Given the description of an element on the screen output the (x, y) to click on. 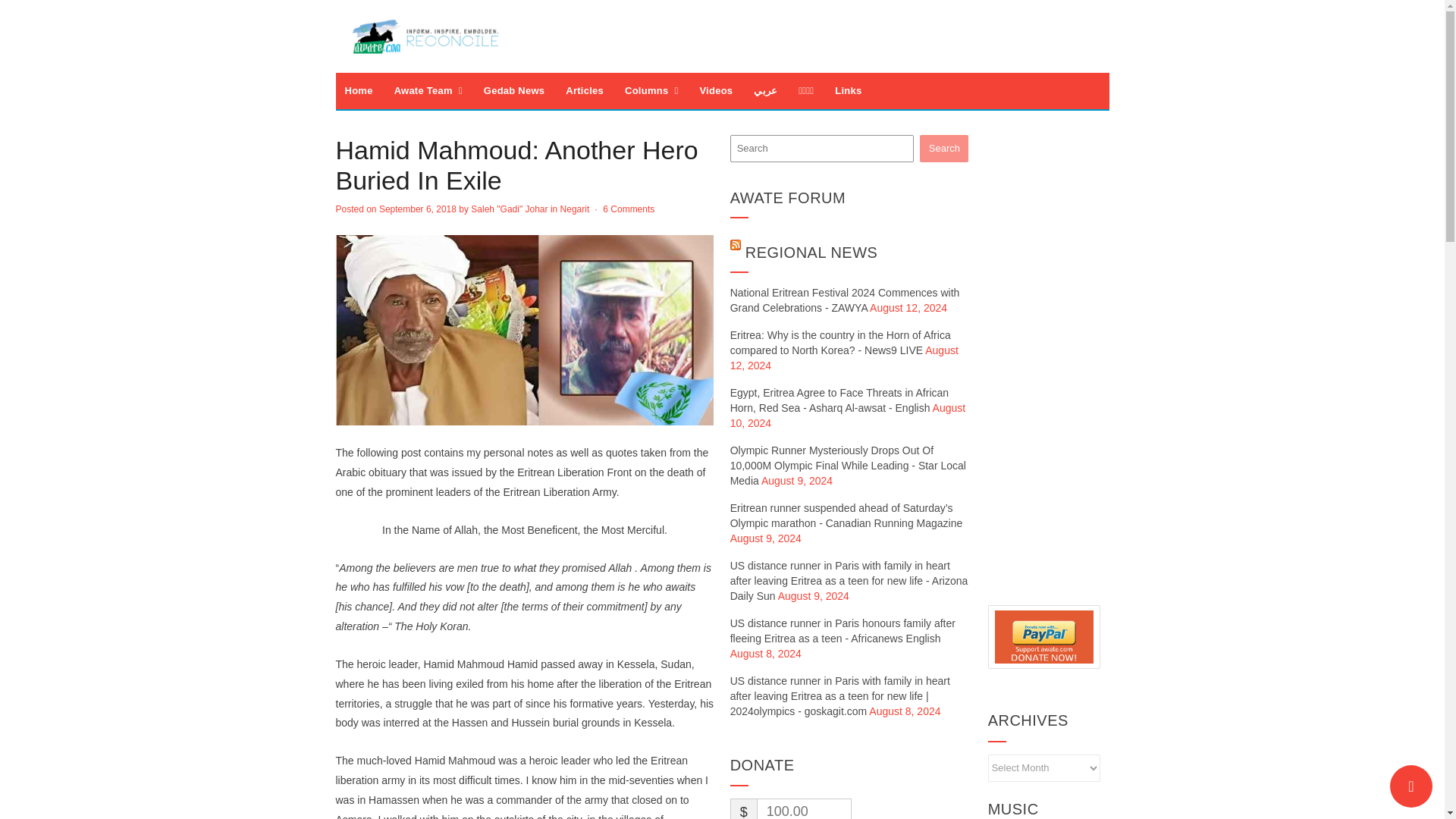
Awate Team (428, 90)
Awate.com (424, 36)
100.00 (804, 808)
Columns (651, 90)
Gedab News (514, 90)
View all posts by Saleh "Gadi" Johar (508, 208)
4:45 pm (417, 208)
Articles (584, 90)
Home (357, 90)
